Given the description of an element on the screen output the (x, y) to click on. 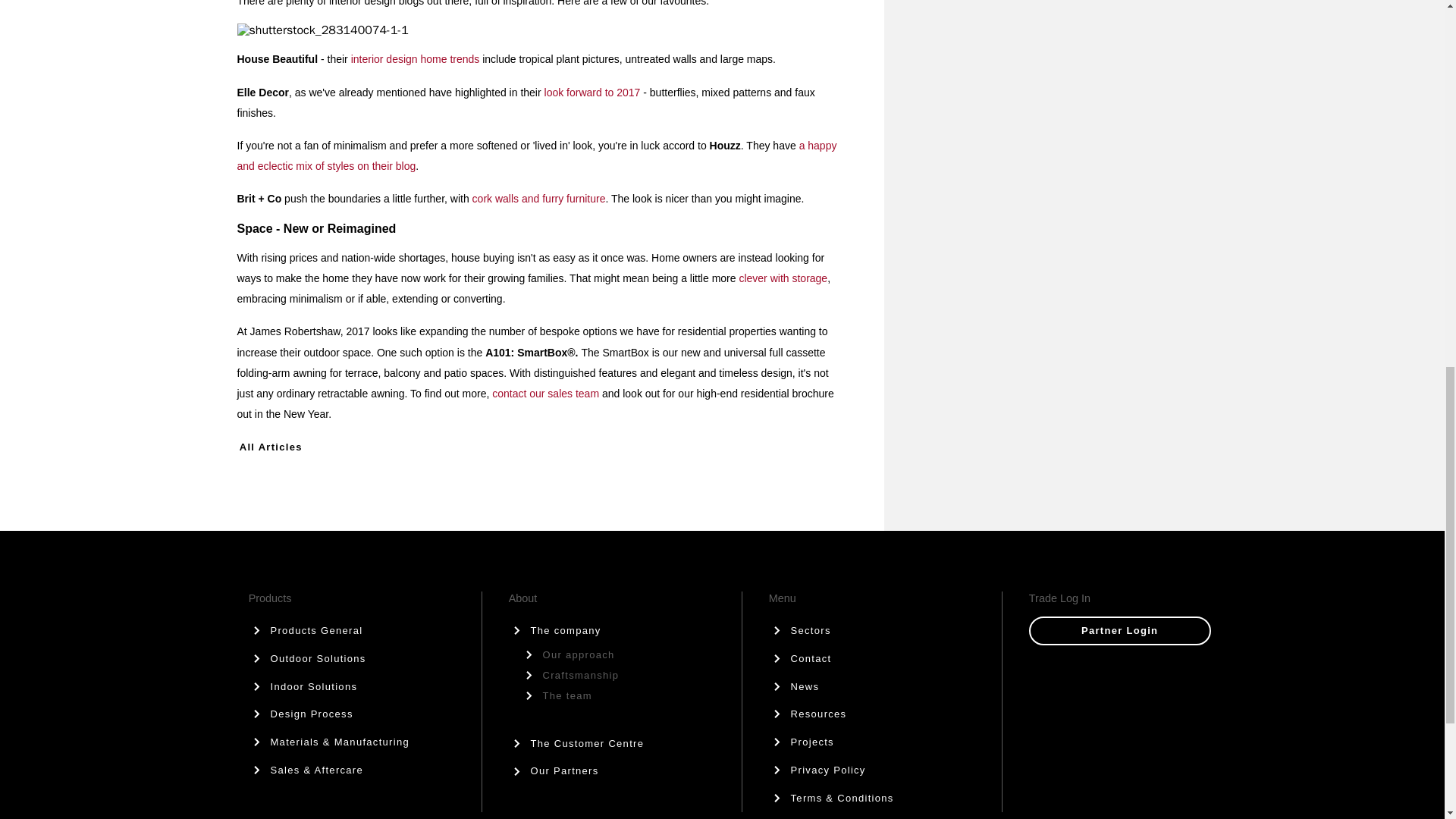
Our approach (625, 654)
Craftsmanship (625, 675)
The team (625, 695)
